Given the description of an element on the screen output the (x, y) to click on. 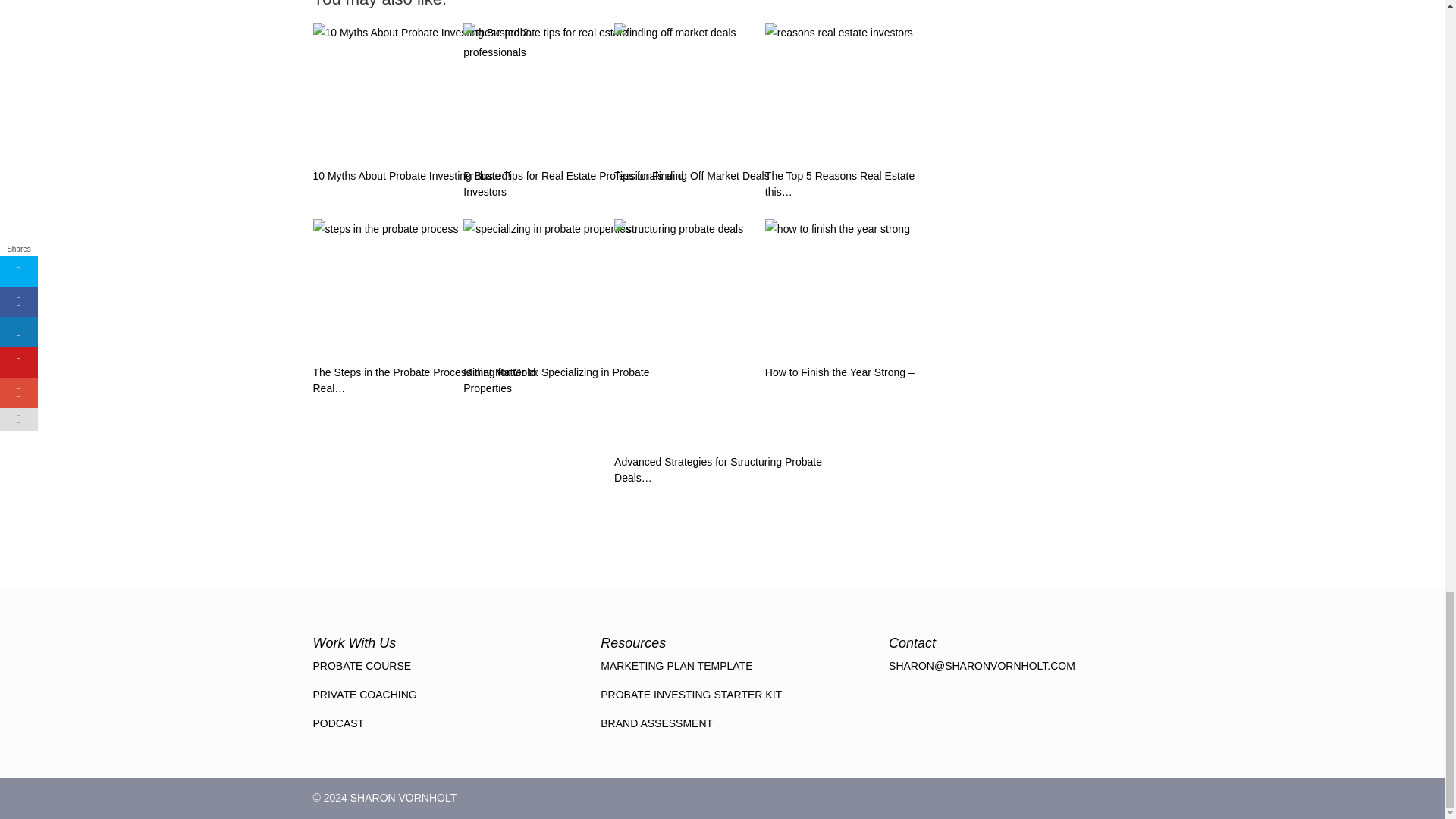
PODCAST (338, 723)
Mining for Gold: Specializing in Probate Properties (576, 288)
10 Myths About Probate Investing Busted! (426, 91)
Tips for Finding Off Market Deals (727, 91)
PROBATE INVESTING STARTER KIT (690, 694)
MARKETING PLAN TEMPLATE (675, 665)
Probate Tips for Real Estate Professionals and Investors (576, 110)
PROBATE COURSE (361, 665)
Tips for Finding Off Market Deals (727, 110)
